Given the description of an element on the screen output the (x, y) to click on. 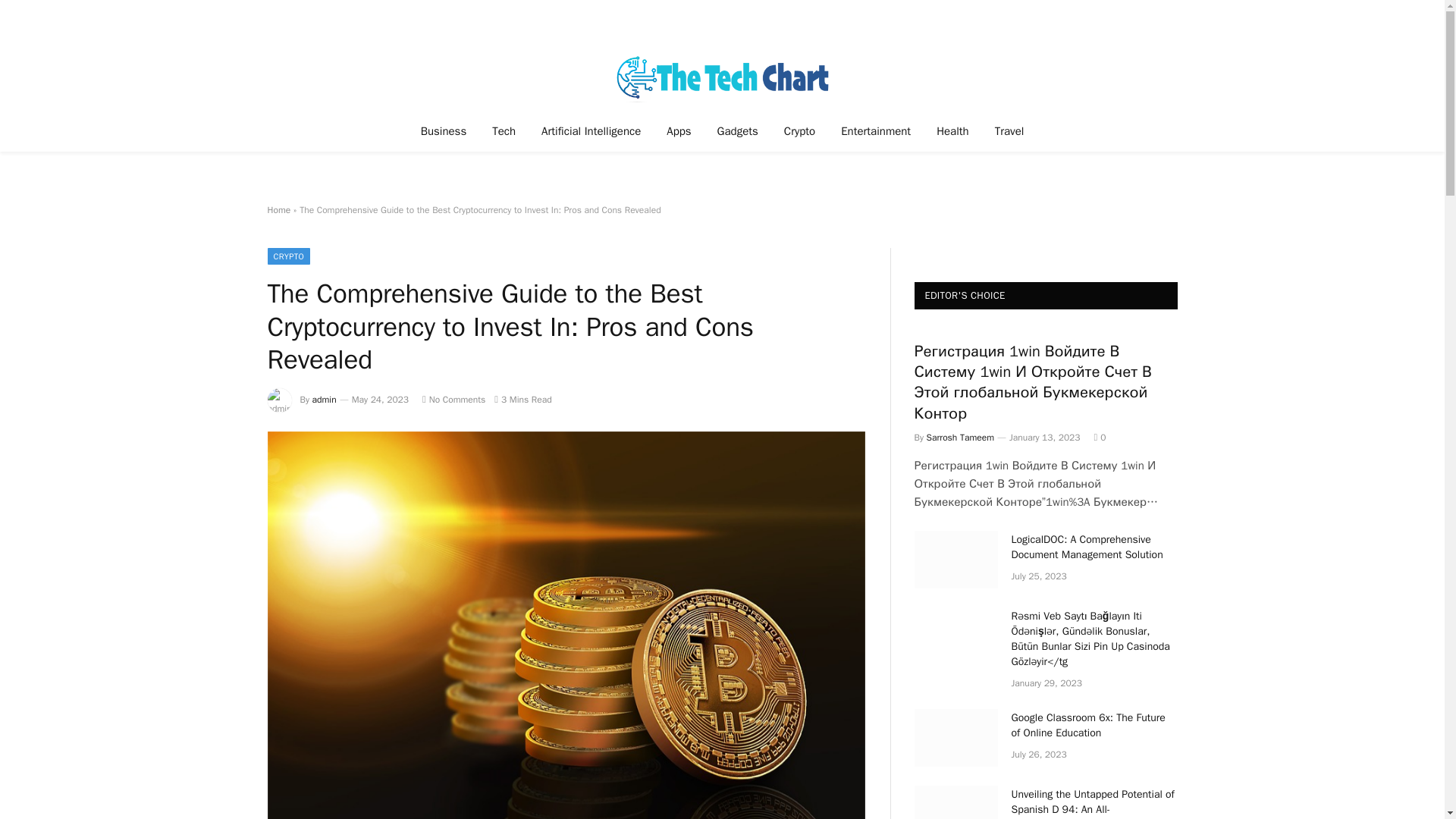
Posts by Sarrosh Tameem (960, 437)
Business (443, 130)
The Tech Chart (721, 77)
0 (1099, 437)
No Comments (453, 399)
LogicalDOC: A Comprehensive Document Management Solution (1094, 547)
Google Classroom 6x: The Future of Online Education (955, 737)
Health (952, 130)
Entertainment (875, 130)
